Given the description of an element on the screen output the (x, y) to click on. 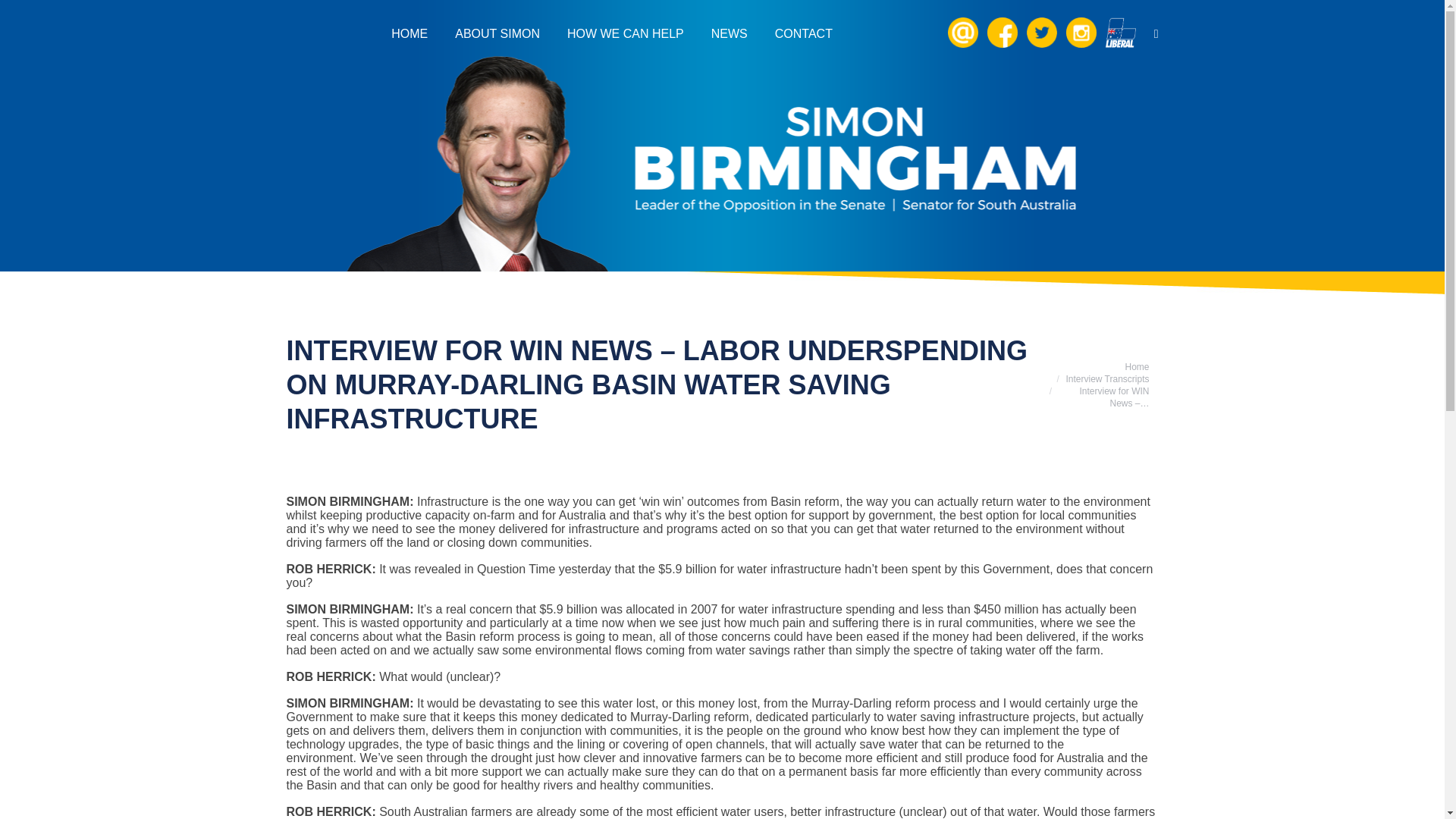
NEWS (729, 33)
ABOUT SIMON (497, 33)
Home (1136, 366)
Interview Transcripts (1106, 378)
HOME (409, 33)
Go! (23, 15)
HOW WE CAN HELP (625, 33)
CONTACT (803, 33)
